Given the description of an element on the screen output the (x, y) to click on. 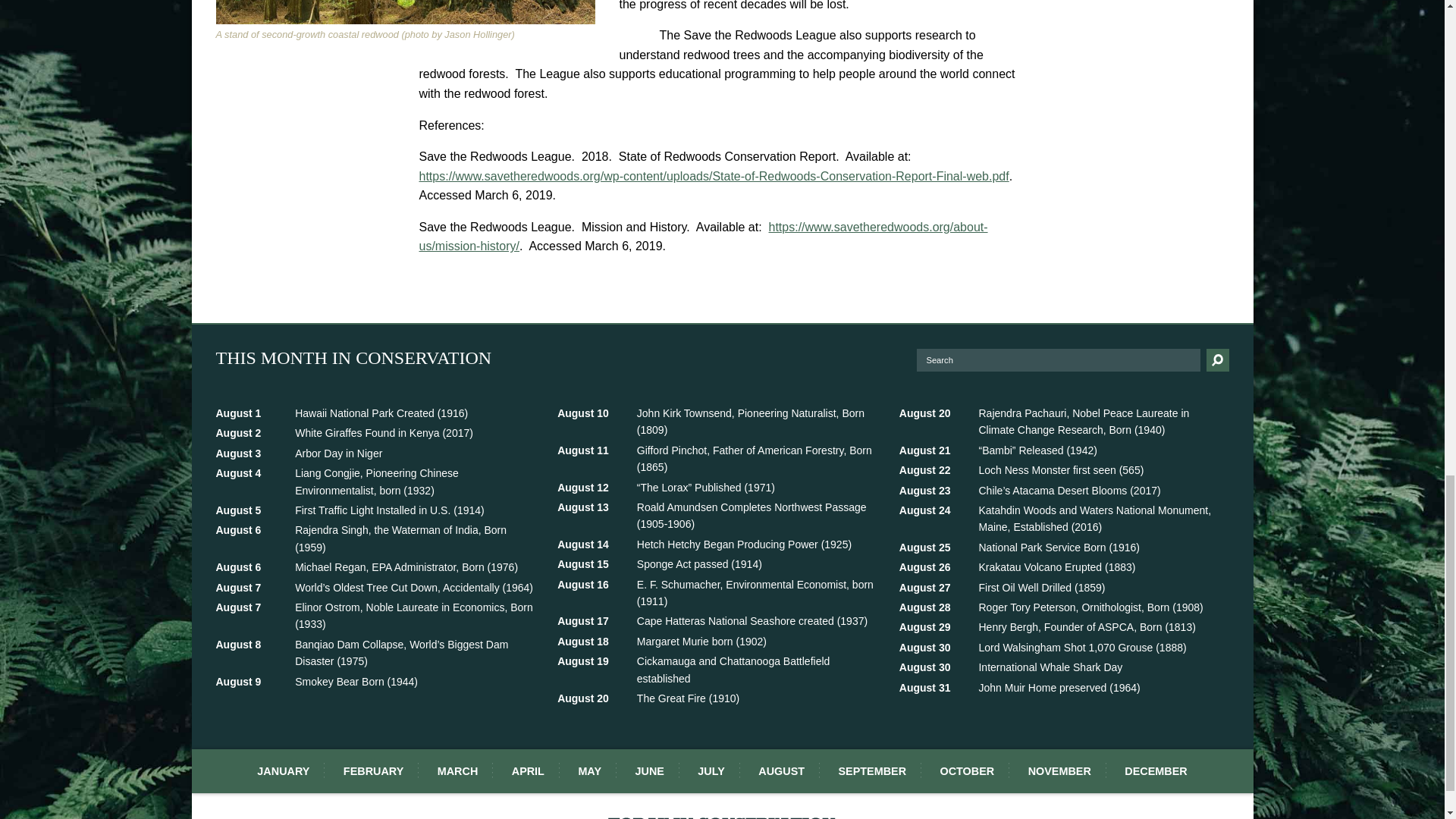
Search (379, 451)
